Given the description of an element on the screen output the (x, y) to click on. 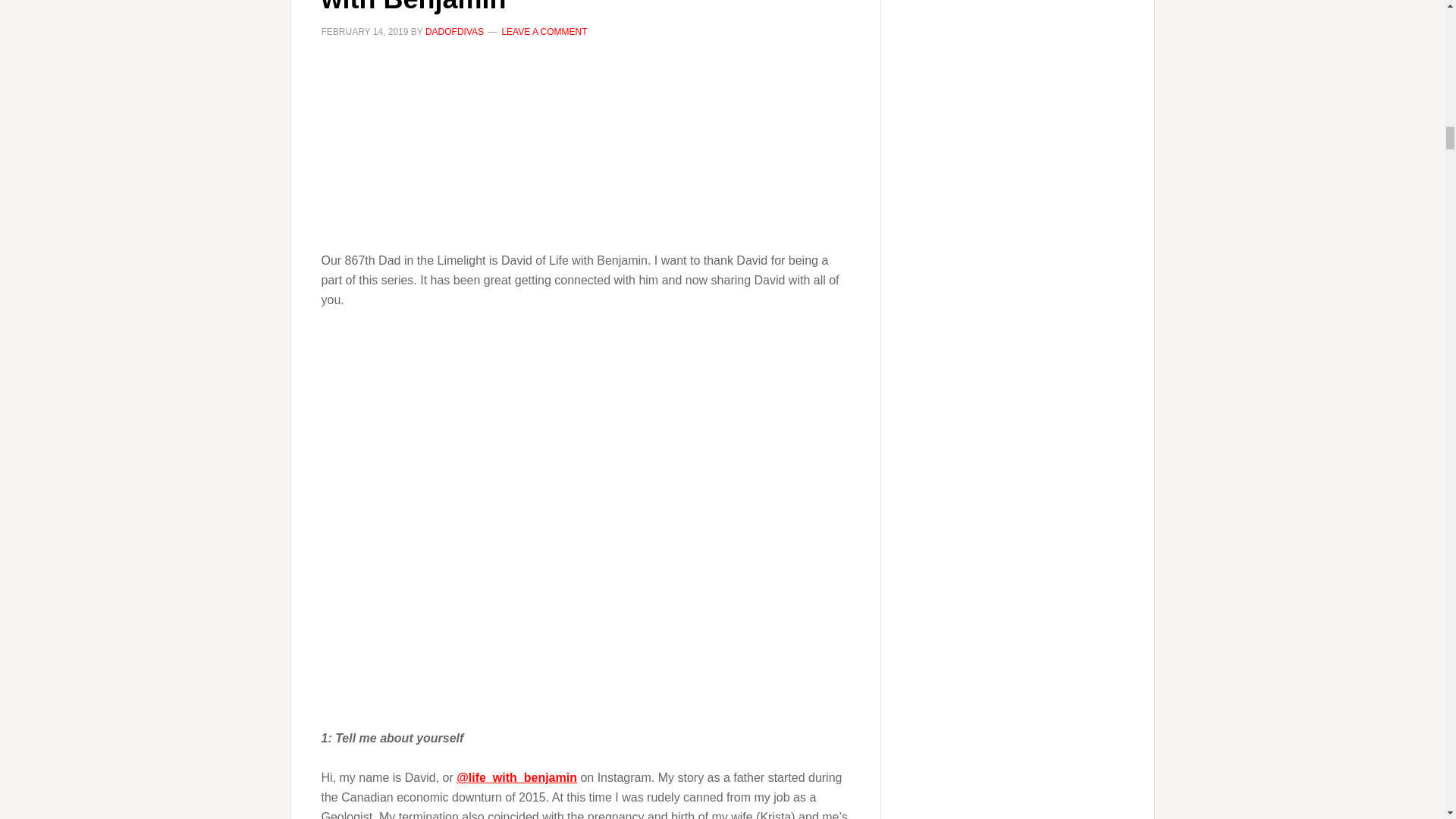
Dads in the Limelight Series (585, 146)
